Given the description of an element on the screen output the (x, y) to click on. 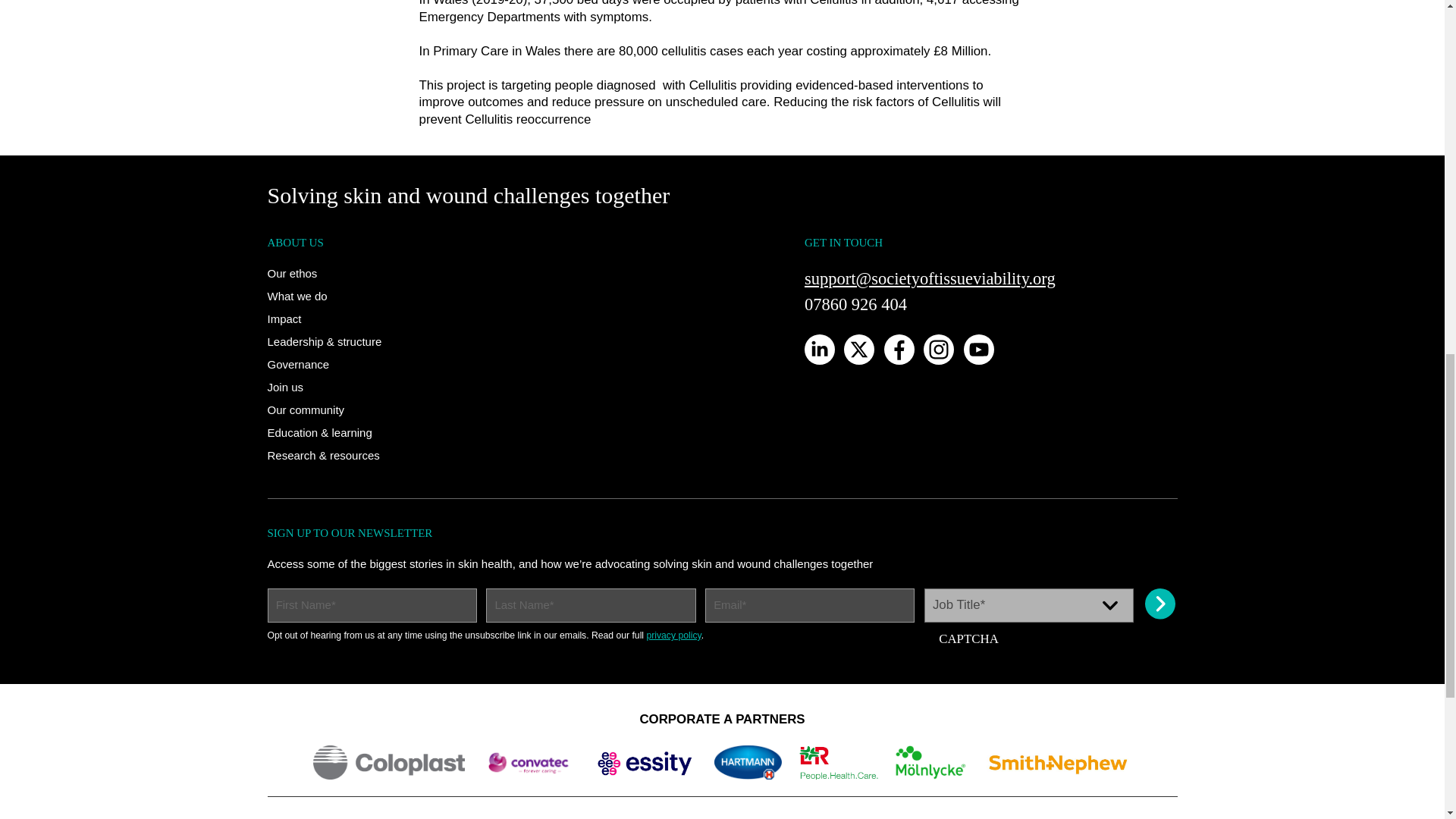
Sign me up (1160, 604)
07860 926 404 (856, 303)
YouTube (978, 349)
Sign me up (1160, 604)
Instagram (938, 349)
Impact (283, 318)
Facebook (898, 349)
Governance (297, 364)
Join us (284, 386)
Twitter (859, 349)
LinkedIn (819, 349)
Our ethos (291, 273)
What we do (296, 295)
Our community (304, 409)
privacy policy (673, 634)
